Given the description of an element on the screen output the (x, y) to click on. 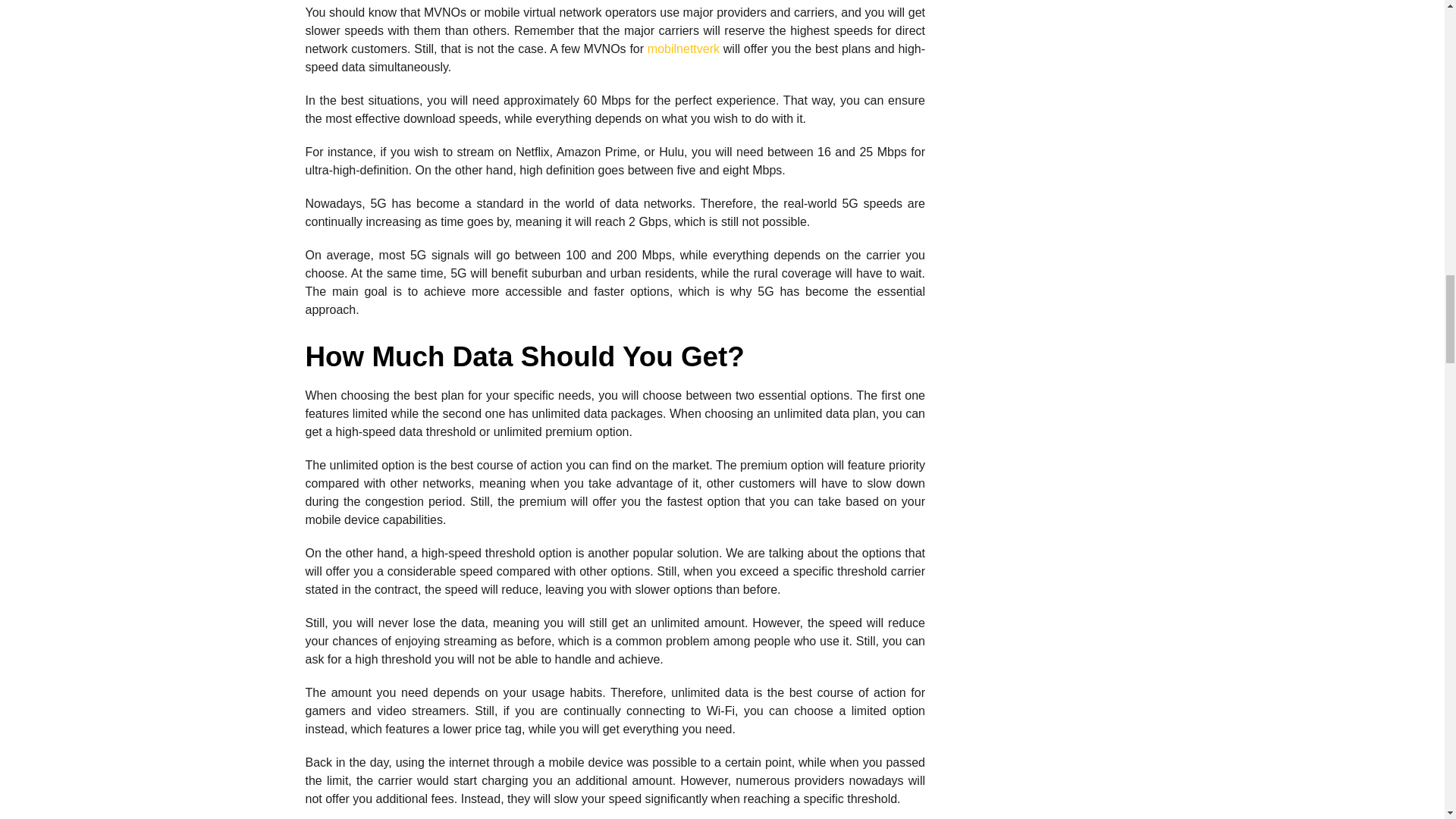
mobilnettverk (683, 48)
